Given the description of an element on the screen output the (x, y) to click on. 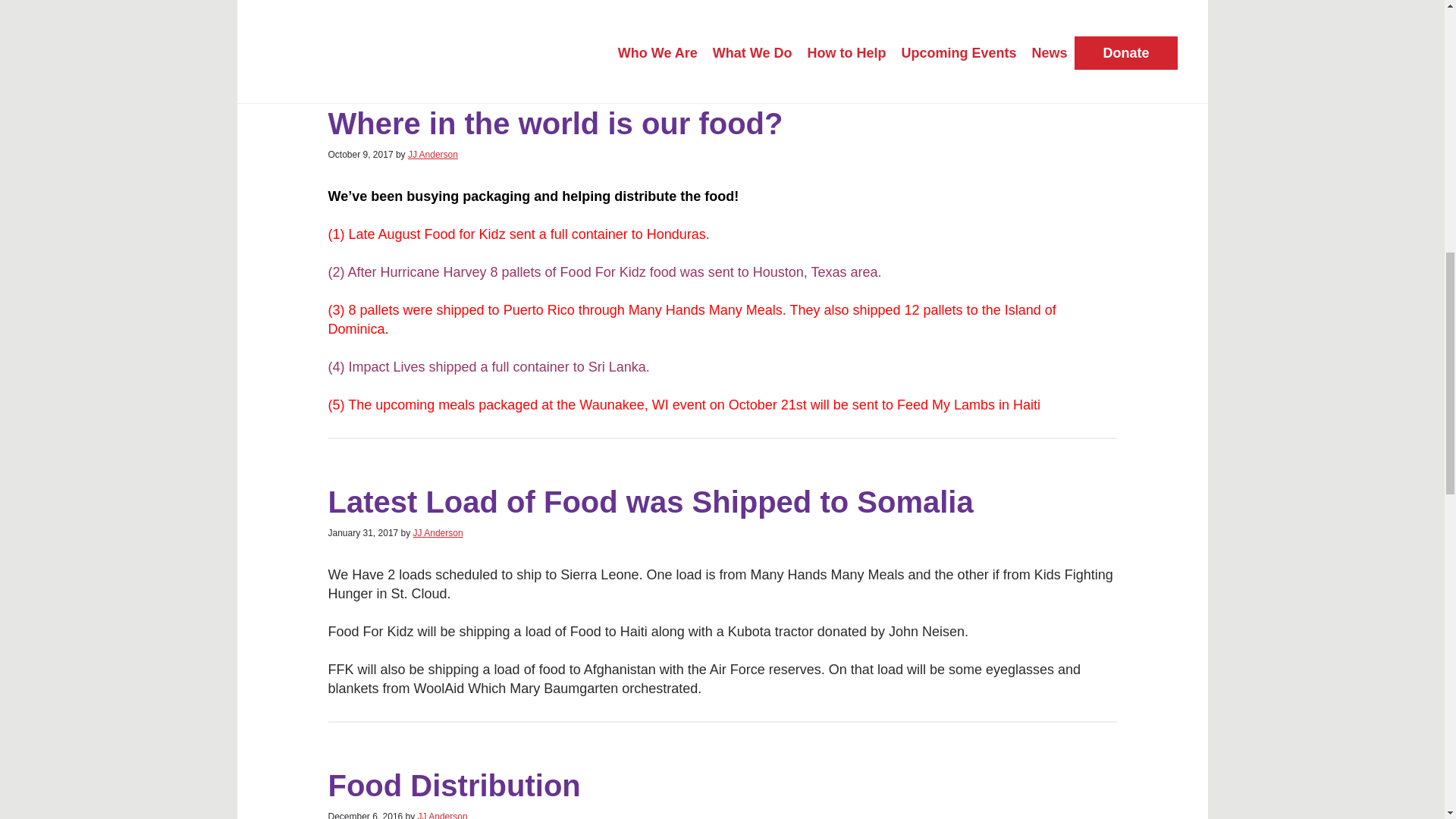
JJ Anderson (432, 154)
Latest Load of Food was Shipped to Somalia (649, 501)
Where in the world is our food? (555, 123)
Food Distribution (453, 785)
JJ Anderson (442, 815)
CLICK HERE (521, 26)
JJ Anderson (438, 532)
